Given the description of an element on the screen output the (x, y) to click on. 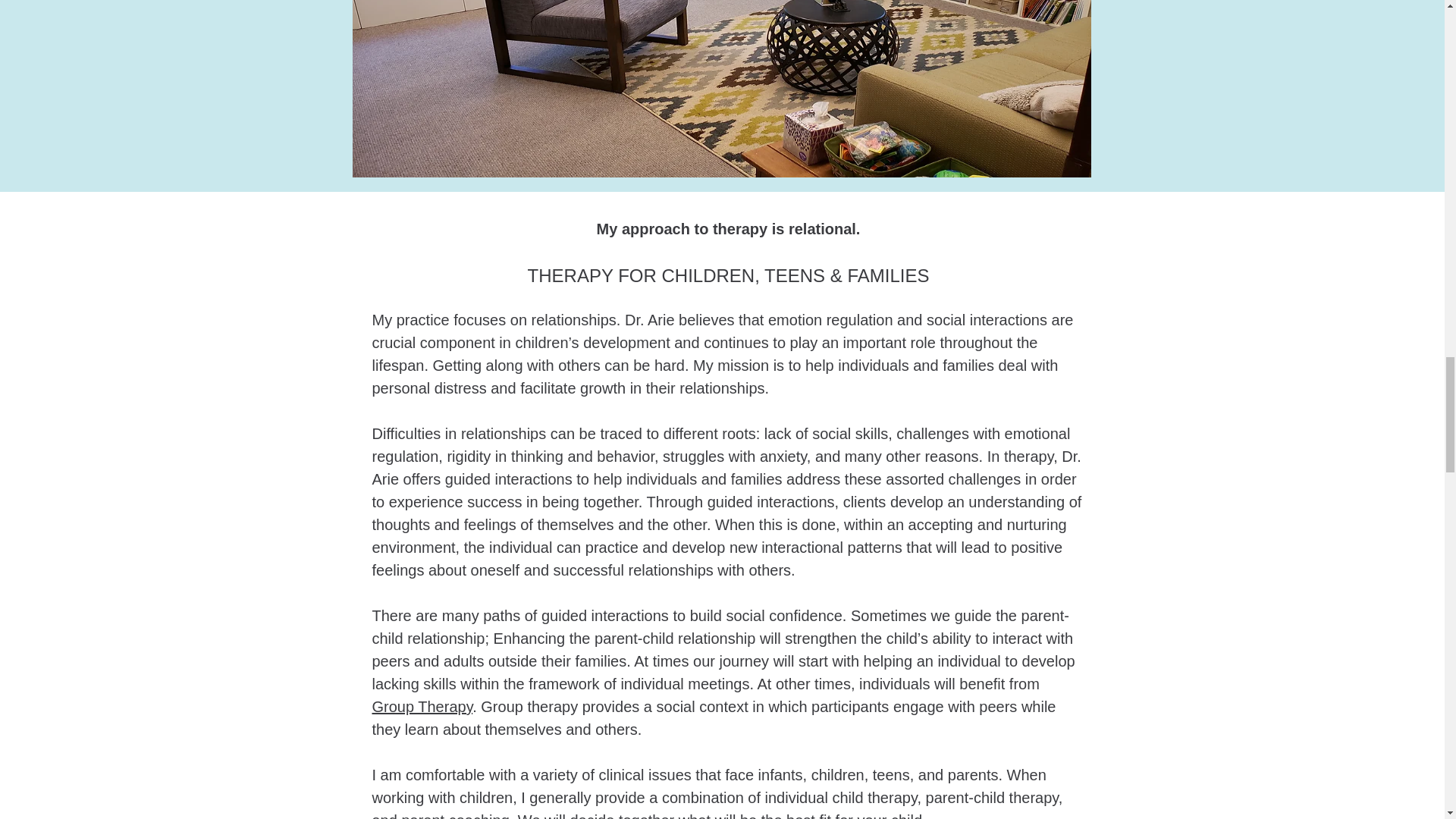
Group Therapy (421, 706)
